Given the description of an element on the screen output the (x, y) to click on. 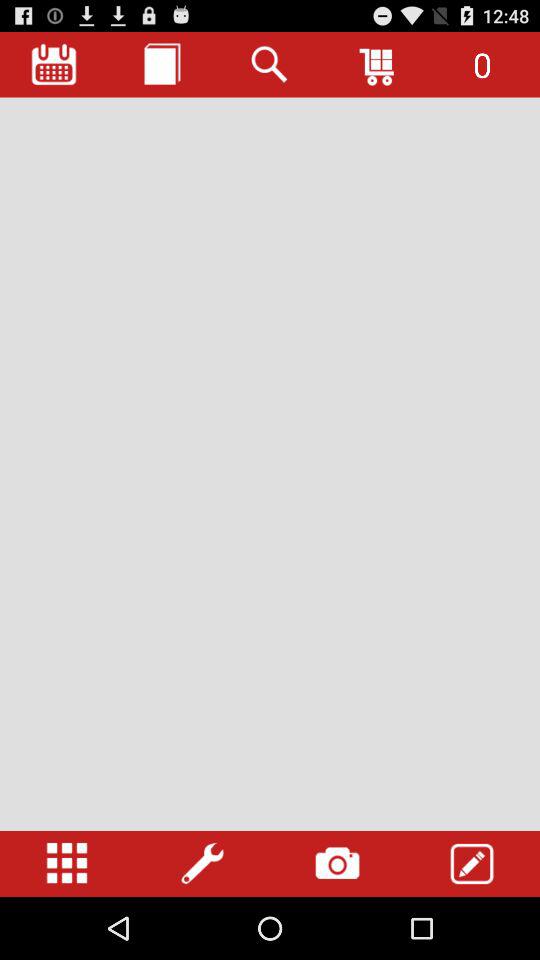
write (472, 863)
